Given the description of an element on the screen output the (x, y) to click on. 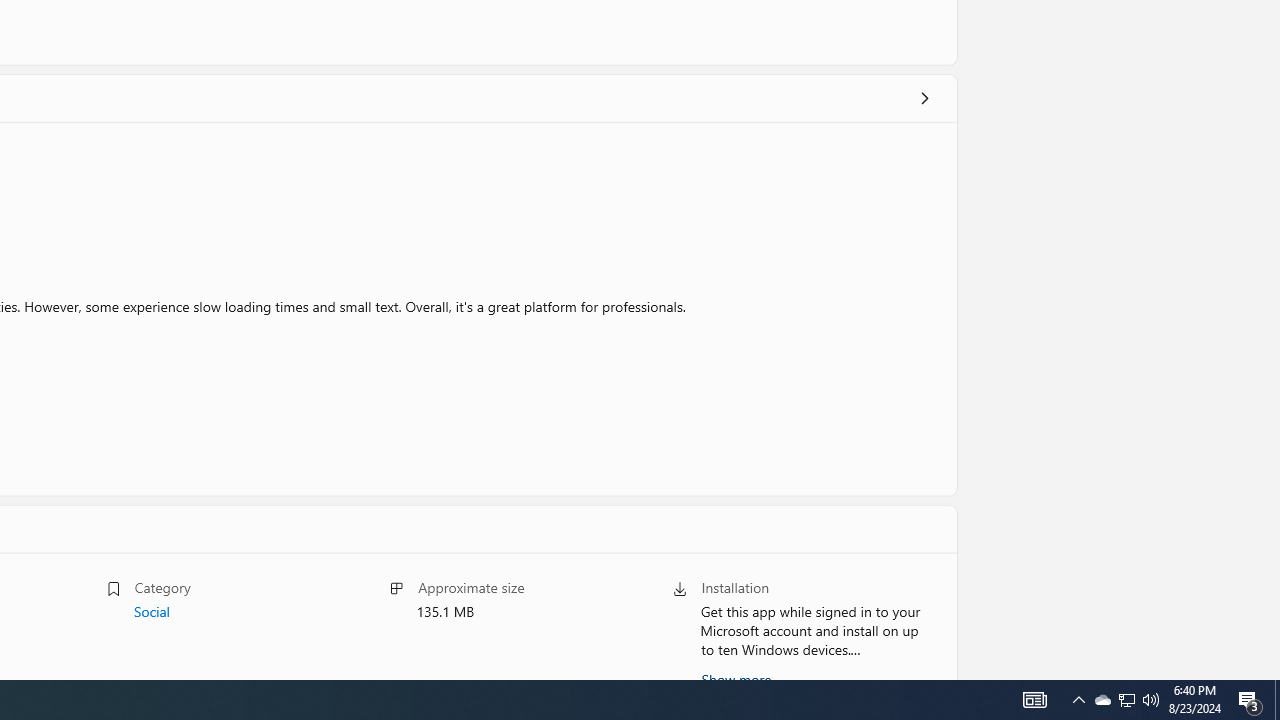
Show all ratings and reviews (924, 97)
